Given the description of an element on the screen output the (x, y) to click on. 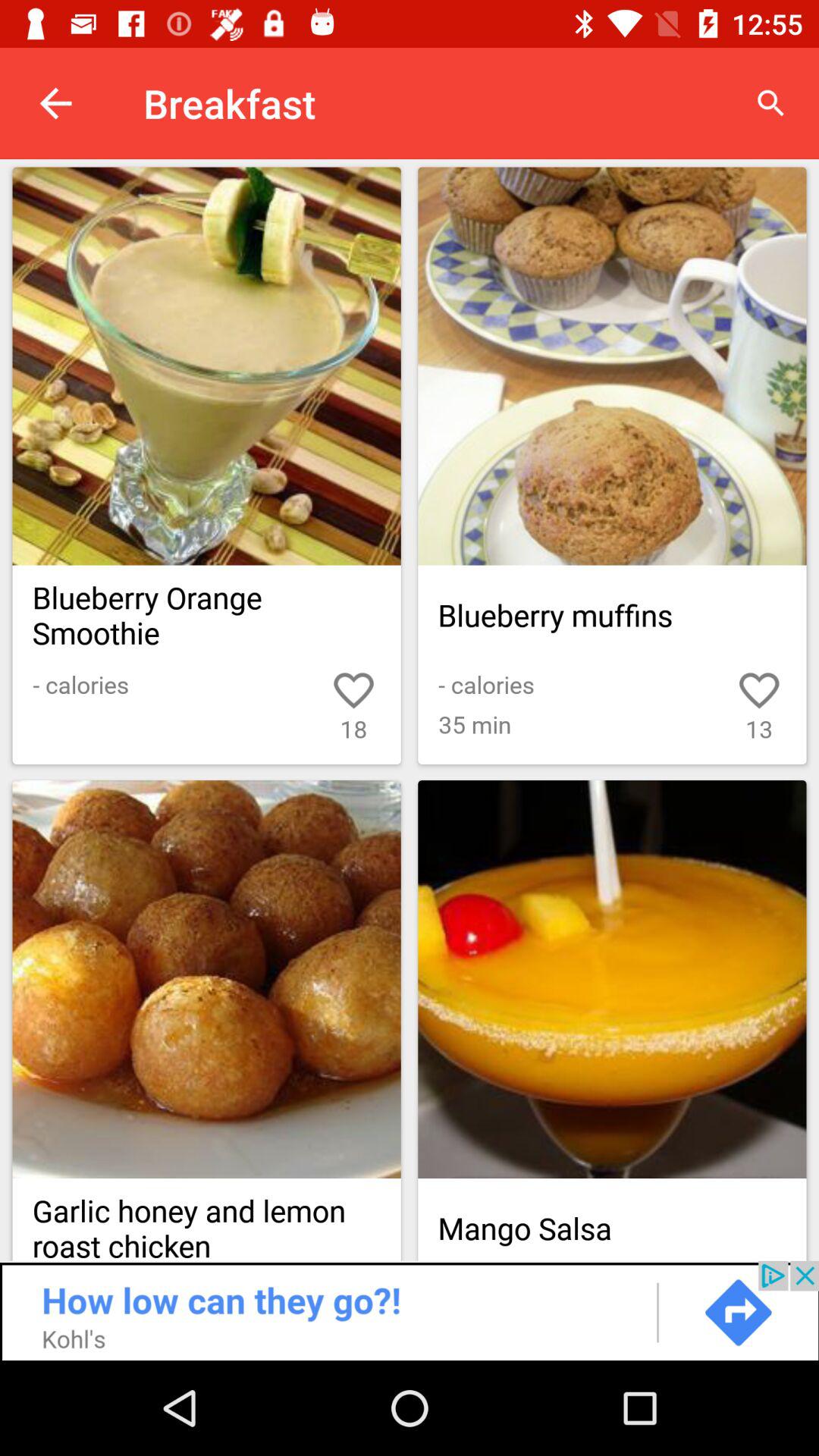
select the breakfast (612, 366)
